Given the description of an element on the screen output the (x, y) to click on. 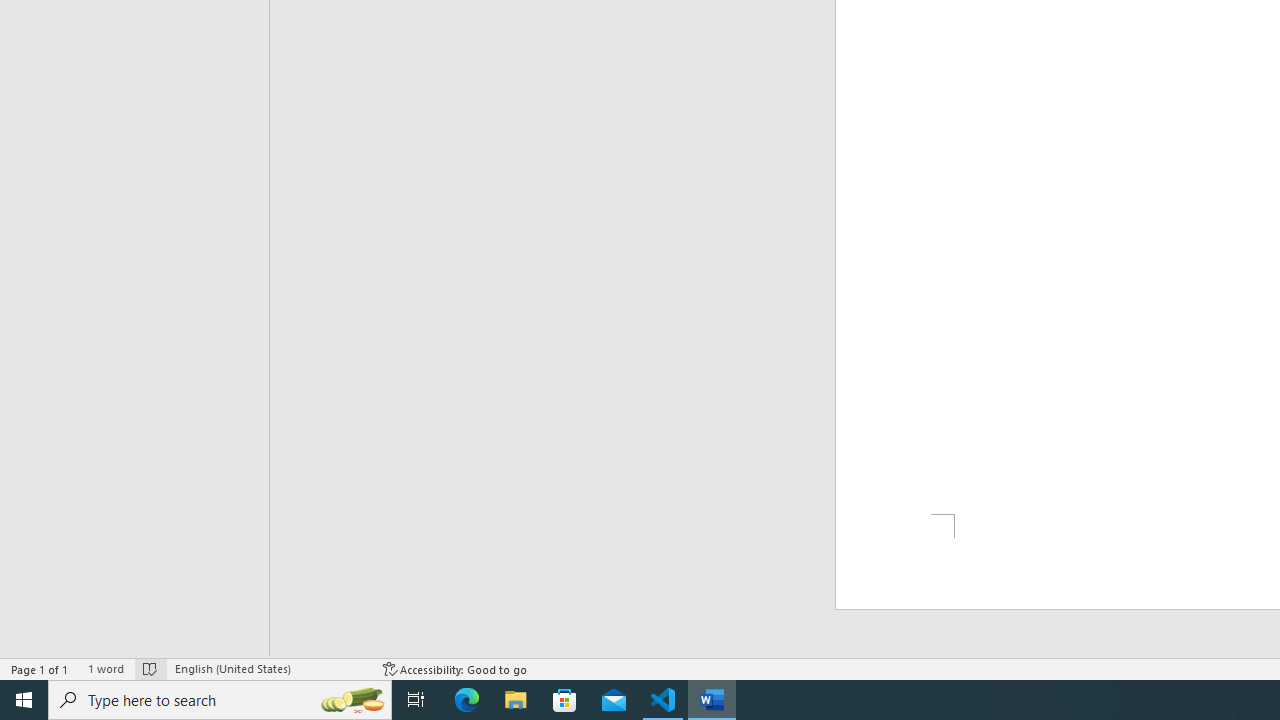
Spelling and Grammar Check No Errors (150, 668)
Page Number Page 1 of 1 (39, 668)
